Given the description of an element on the screen output the (x, y) to click on. 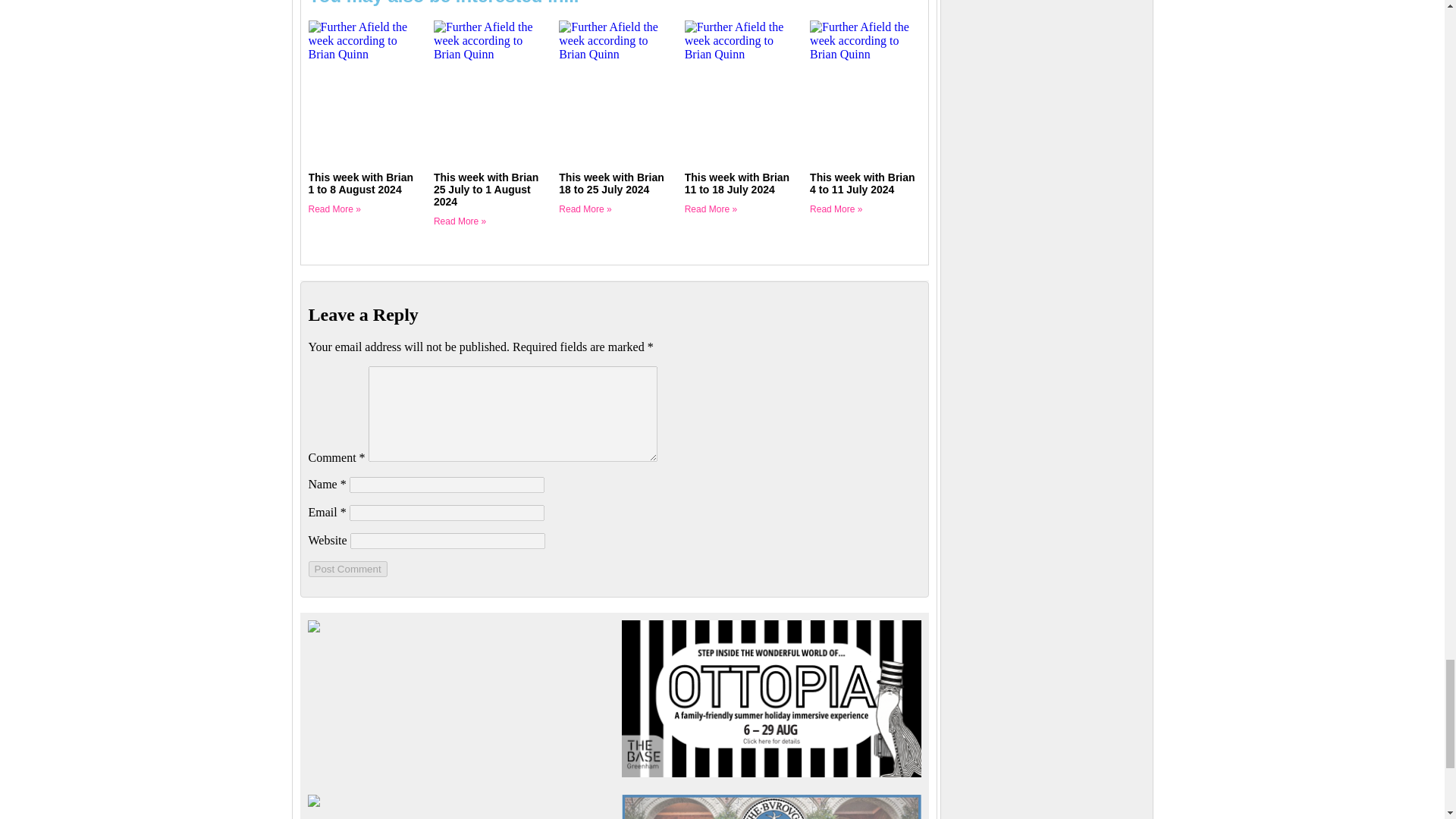
Post Comment (347, 575)
